Given the description of an element on the screen output the (x, y) to click on. 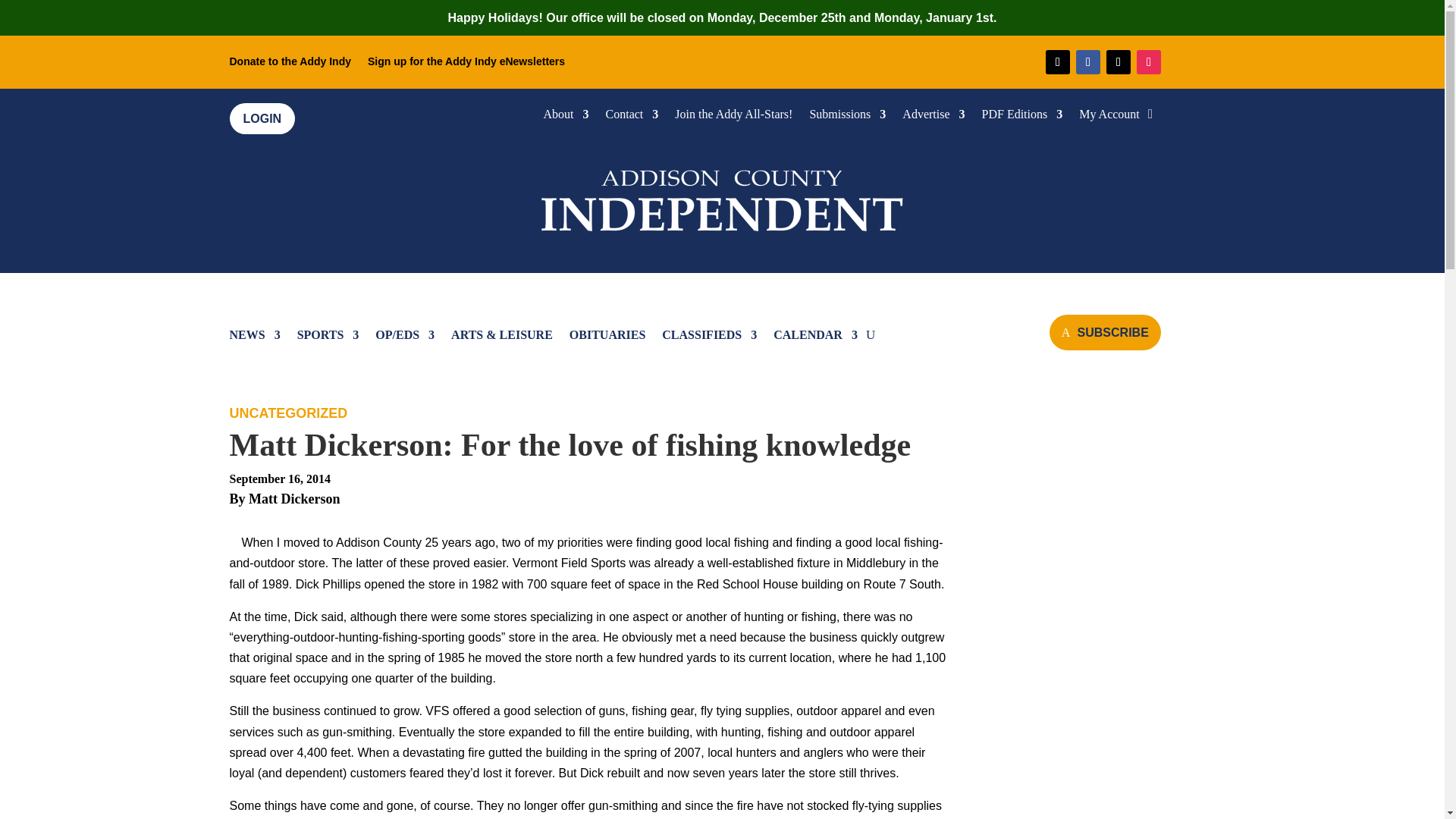
Follow on Facebook (1087, 61)
Contact (632, 117)
addison-logo (721, 197)
Donate to the Addy Indy (289, 64)
My Account (1109, 117)
3rd party ad content (1100, 595)
About (566, 117)
Follow on Instagram (1148, 61)
Sign up for the Addy Indy eNewsletters (466, 64)
PDF Editions (1021, 117)
Advertise (932, 117)
Submissions (847, 117)
Follow on X (1118, 61)
Follow on Mail (1057, 61)
Join the Addy All-Stars! (733, 117)
